Given the description of an element on the screen output the (x, y) to click on. 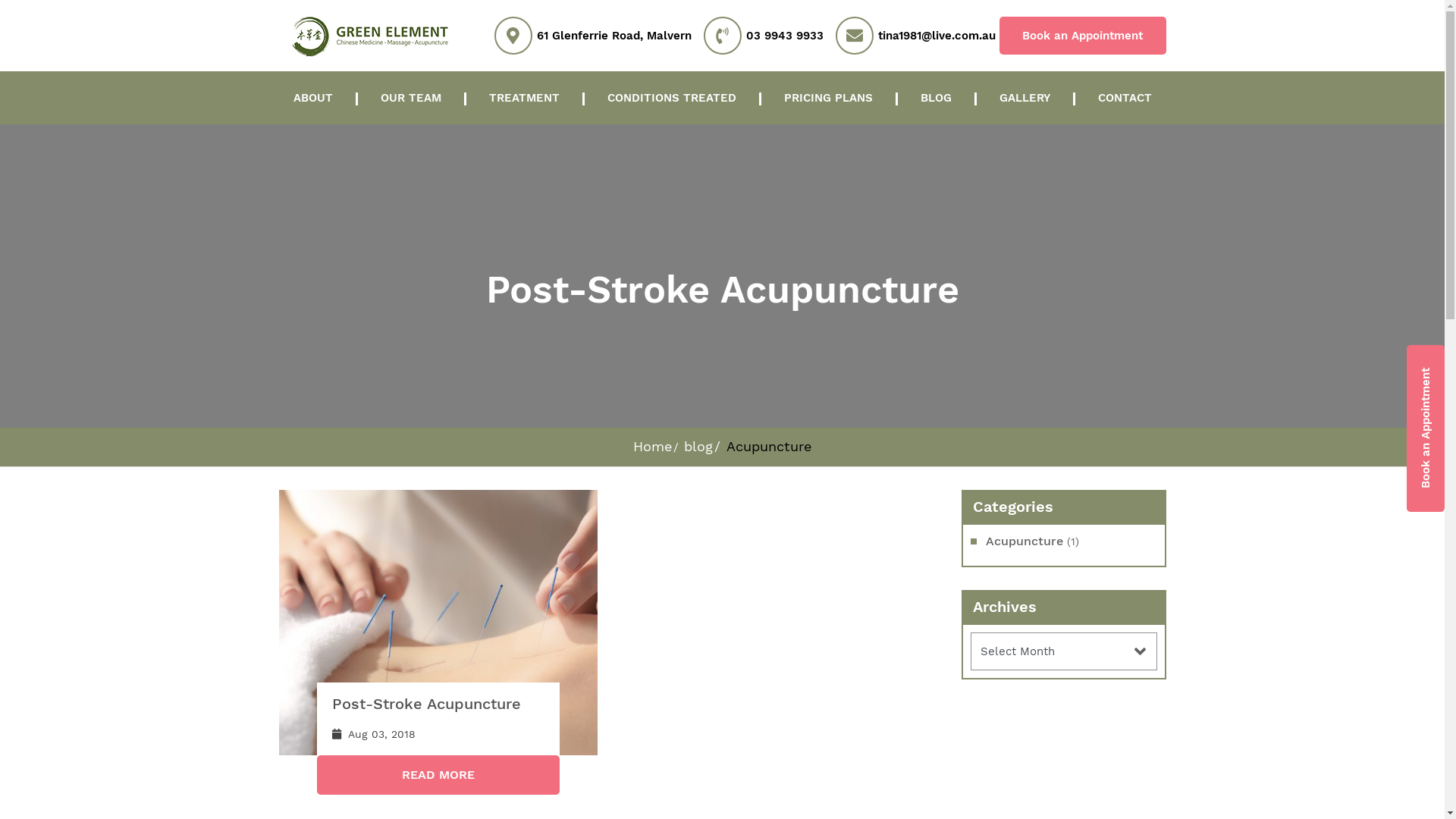
TREATMENT Element type: text (523, 97)
OUR TEAM Element type: text (410, 97)
GALLERY Element type: text (1024, 97)
03 9943 9933 Element type: text (784, 29)
Post-Stroke Acupuncture Element type: text (426, 703)
CONDITIONS TREATED Element type: text (670, 97)
Acupuncture Element type: text (1024, 540)
CONTACT Element type: text (1124, 97)
blog Element type: text (698, 446)
Book an Appointment Element type: text (1082, 35)
PRICING PLANS Element type: text (828, 97)
tina1981@live.com.au Element type: text (936, 29)
Home Element type: text (652, 446)
ABOUT Element type: text (312, 97)
READ MORE Element type: text (437, 774)
BLOG Element type: text (935, 97)
